Given the description of an element on the screen output the (x, y) to click on. 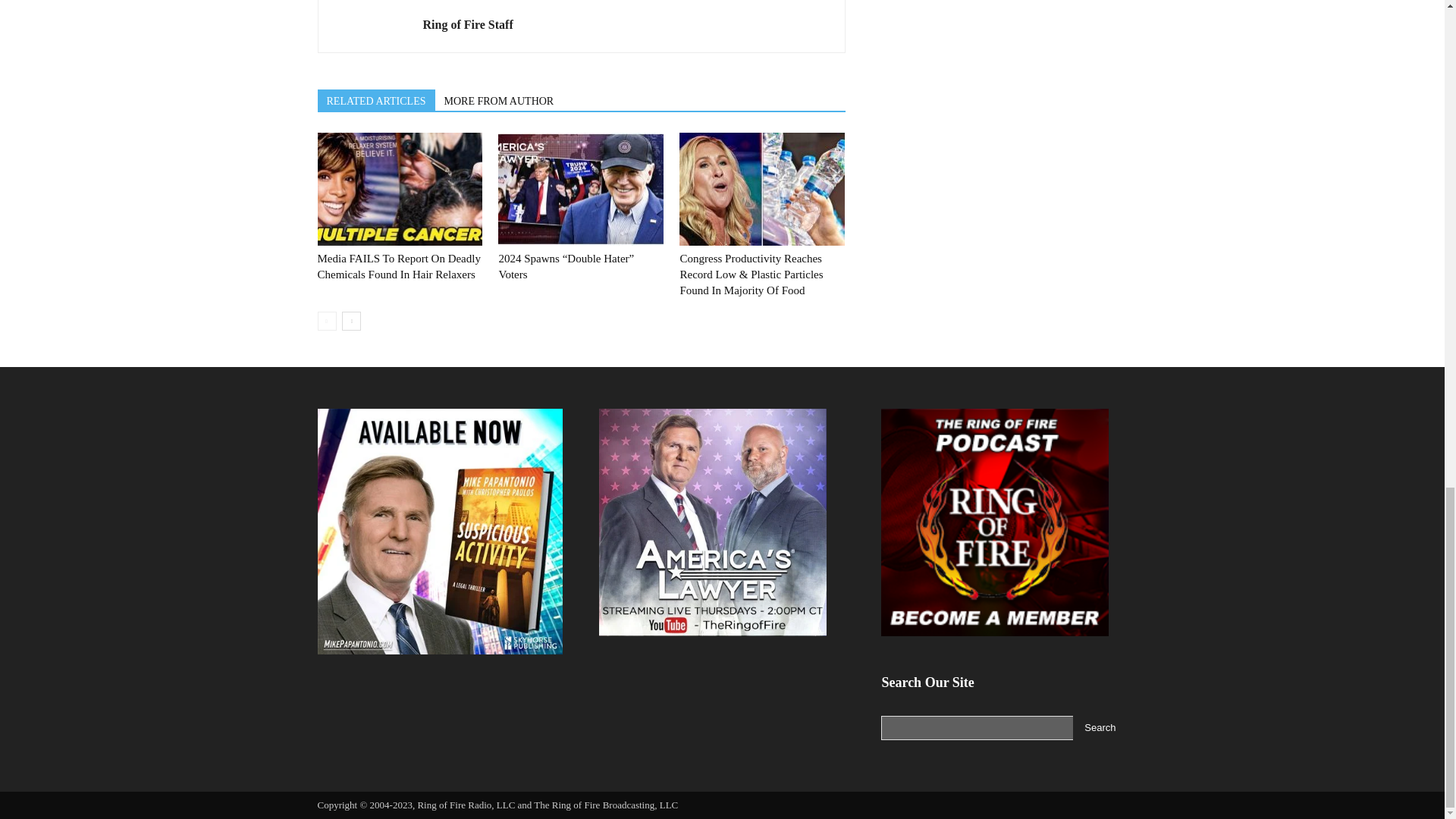
Search (1099, 727)
